Given the description of an element on the screen output the (x, y) to click on. 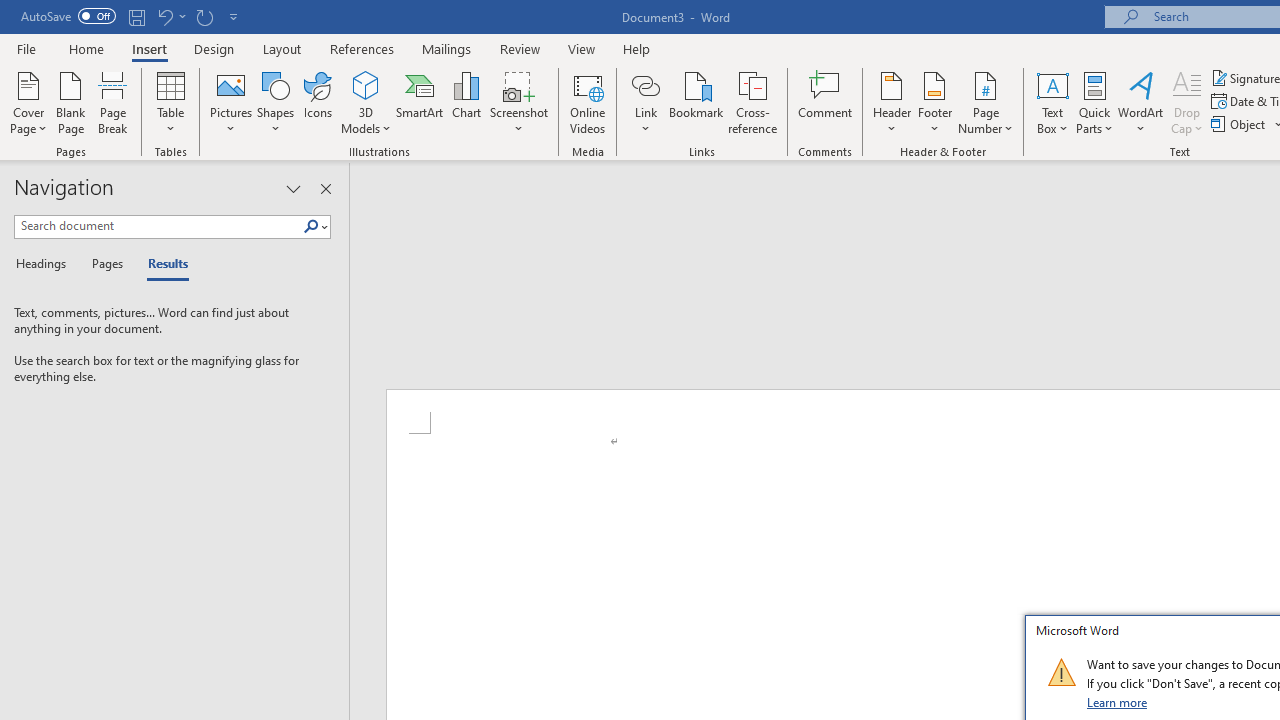
Learn more (1118, 702)
Blank Page (70, 102)
Search document (157, 226)
Screenshot (518, 102)
Shapes (275, 102)
3D Models (366, 102)
Icons (317, 102)
Undo New Page (170, 15)
Footer (934, 102)
